Given the description of an element on the screen output the (x, y) to click on. 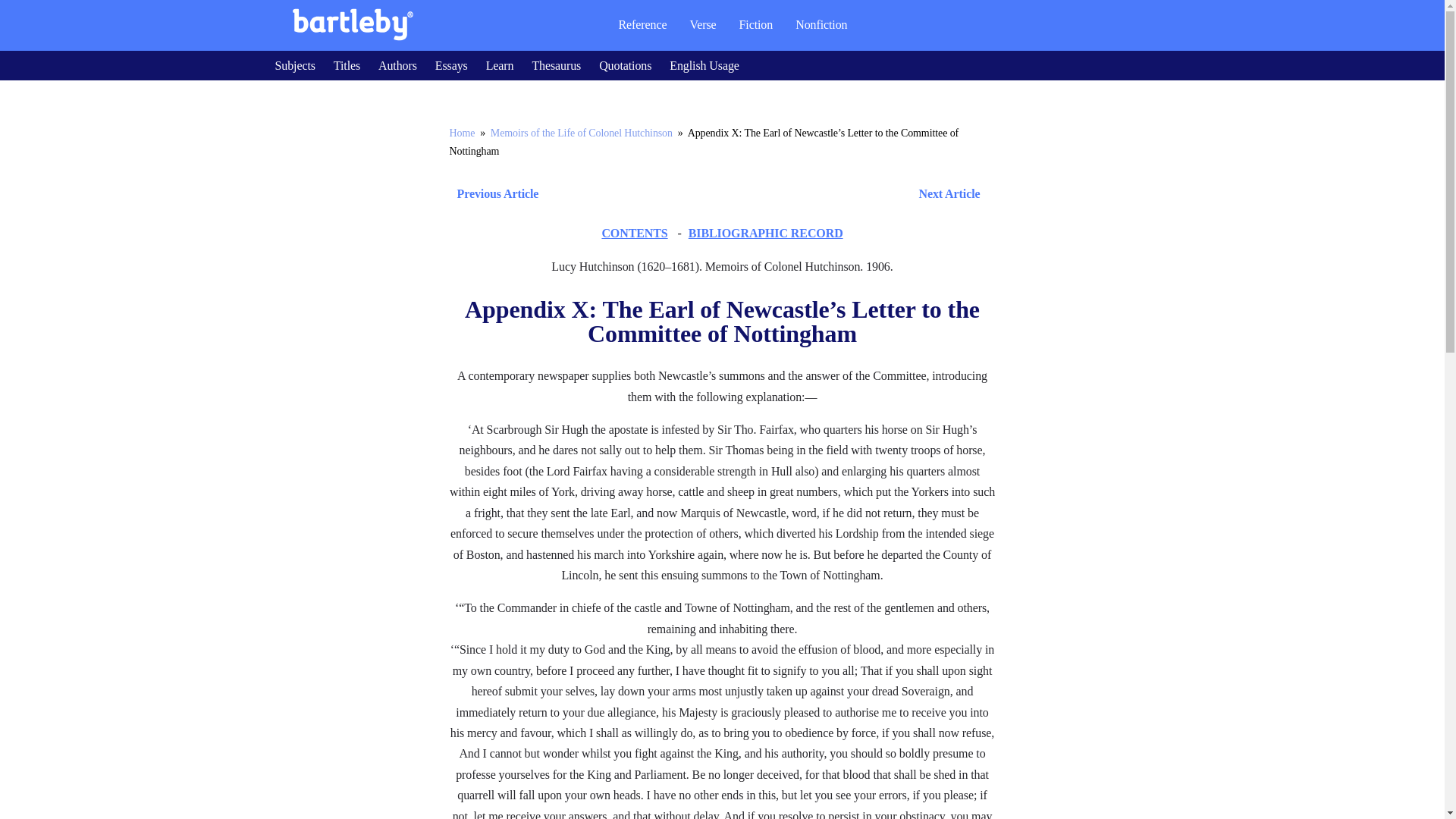
Thesaurus (555, 65)
Reference (642, 24)
Titles (346, 65)
Nonfiction (821, 24)
Fiction (756, 24)
Subjects (294, 65)
Home (461, 132)
English Usage (704, 65)
Essays (451, 65)
Learn (499, 65)
Quotations (624, 65)
Verse (702, 24)
Next Article (766, 193)
Authors (397, 65)
BIBLIOGRAPHIC RECORD (765, 232)
